Given the description of an element on the screen output the (x, y) to click on. 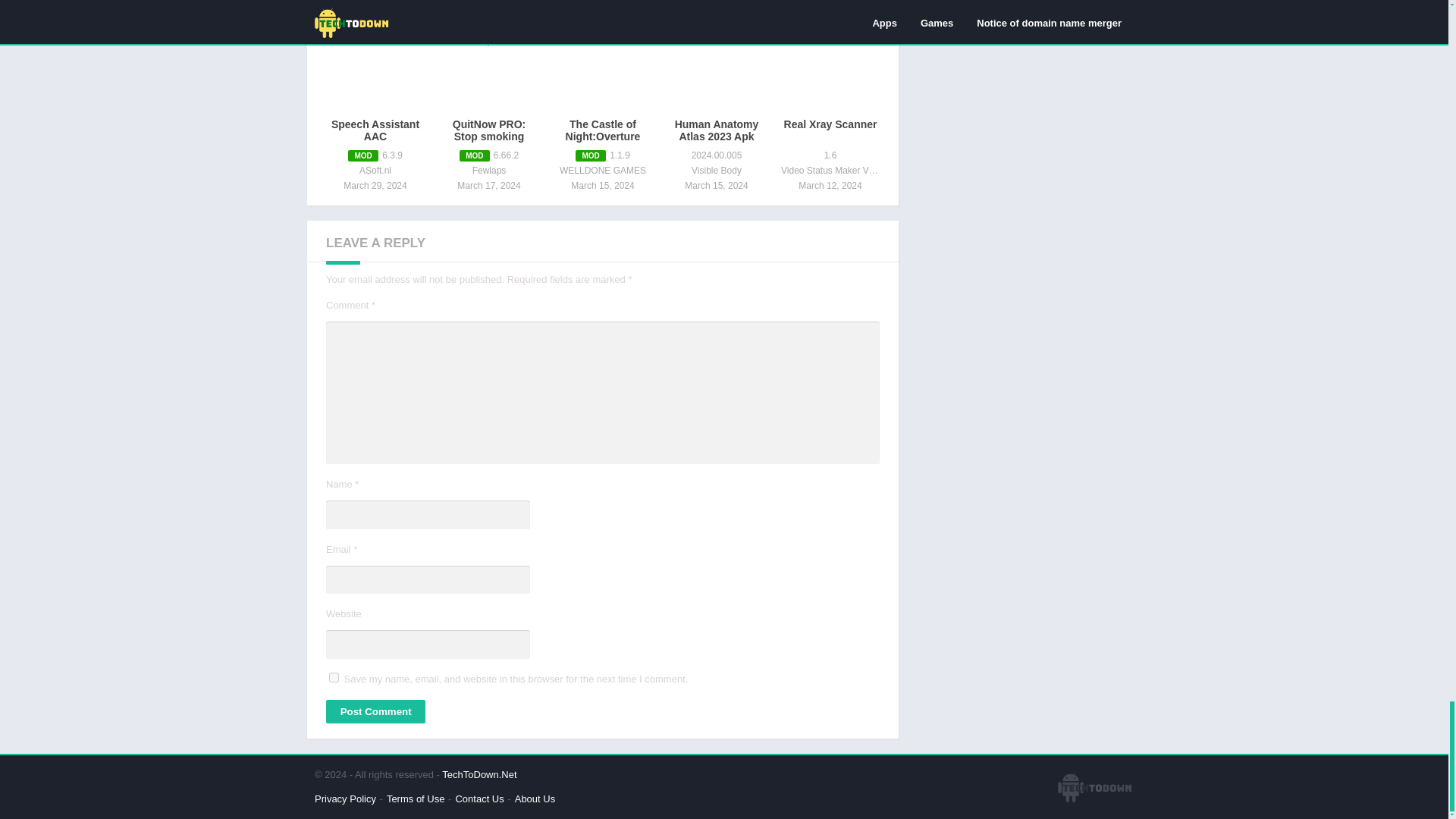
yes (334, 677)
Post Comment (375, 711)
